Given the description of an element on the screen output the (x, y) to click on. 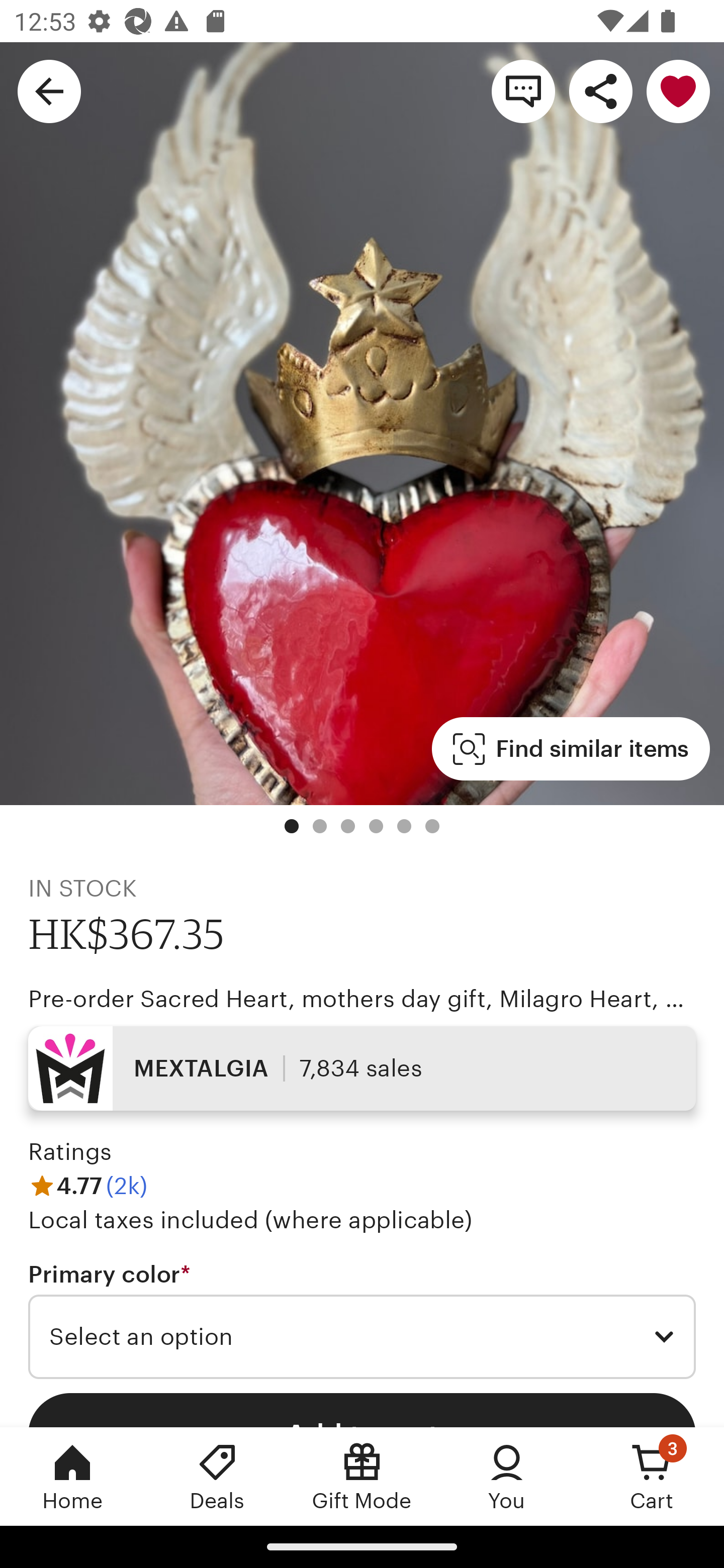
Navigate up (49, 90)
Contact shop (523, 90)
Share (600, 90)
Find similar items (571, 748)
MEXTALGIA 7,834 sales (361, 1067)
Ratings (70, 1151)
4.77 (2k) (87, 1185)
Primary color * Required Select an option (361, 1319)
Select an option (361, 1336)
Deals (216, 1475)
Gift Mode (361, 1475)
You (506, 1475)
Cart, 3 new notifications Cart (651, 1475)
